Given the description of an element on the screen output the (x, y) to click on. 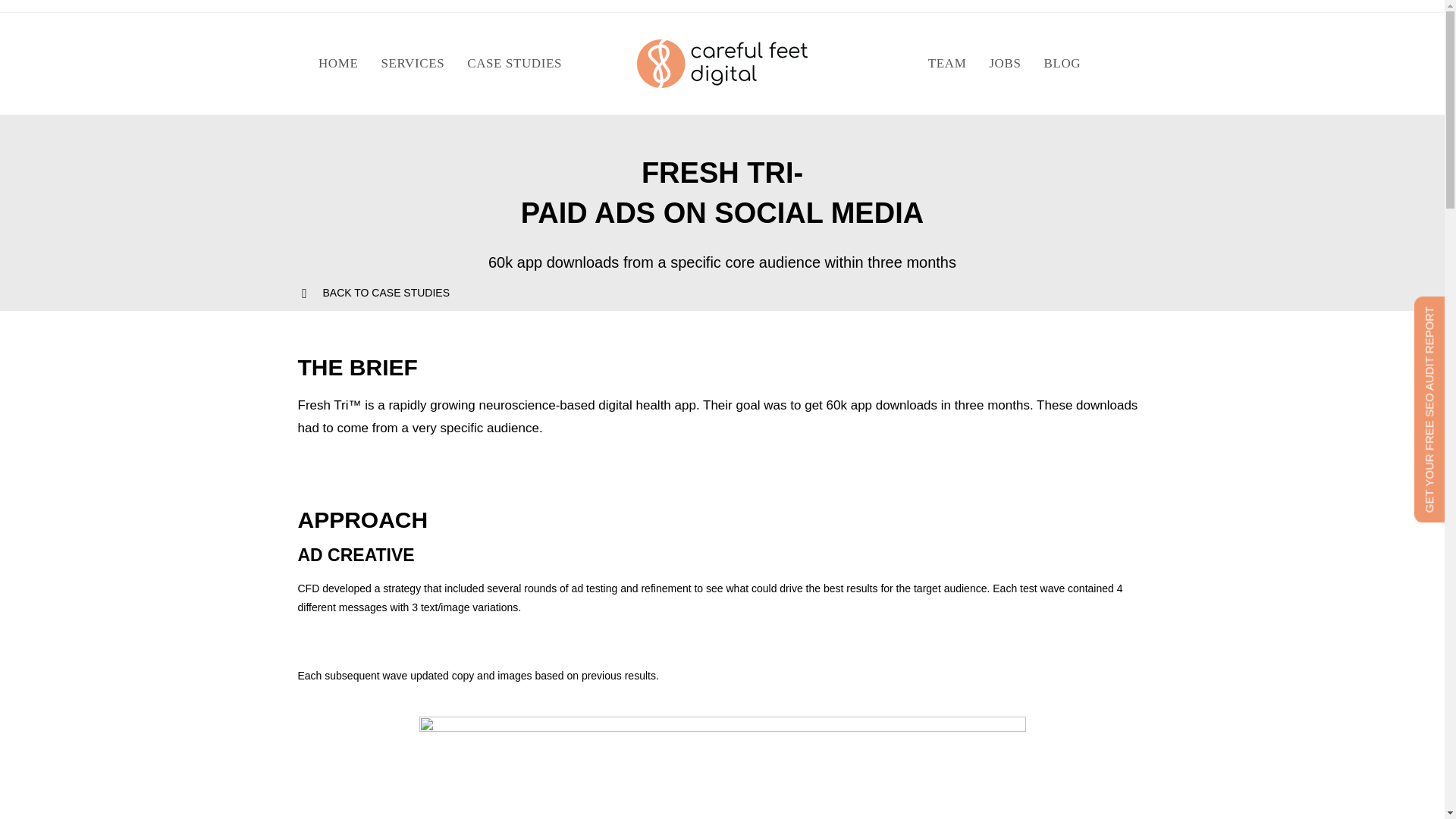
SERVICES (412, 63)
BLOG (1062, 63)
CASE STUDIES (514, 63)
JOBS (1004, 63)
TEAM (947, 63)
HOME (338, 63)
BACK TO CASE STUDIES (386, 292)
